Given the description of an element on the screen output the (x, y) to click on. 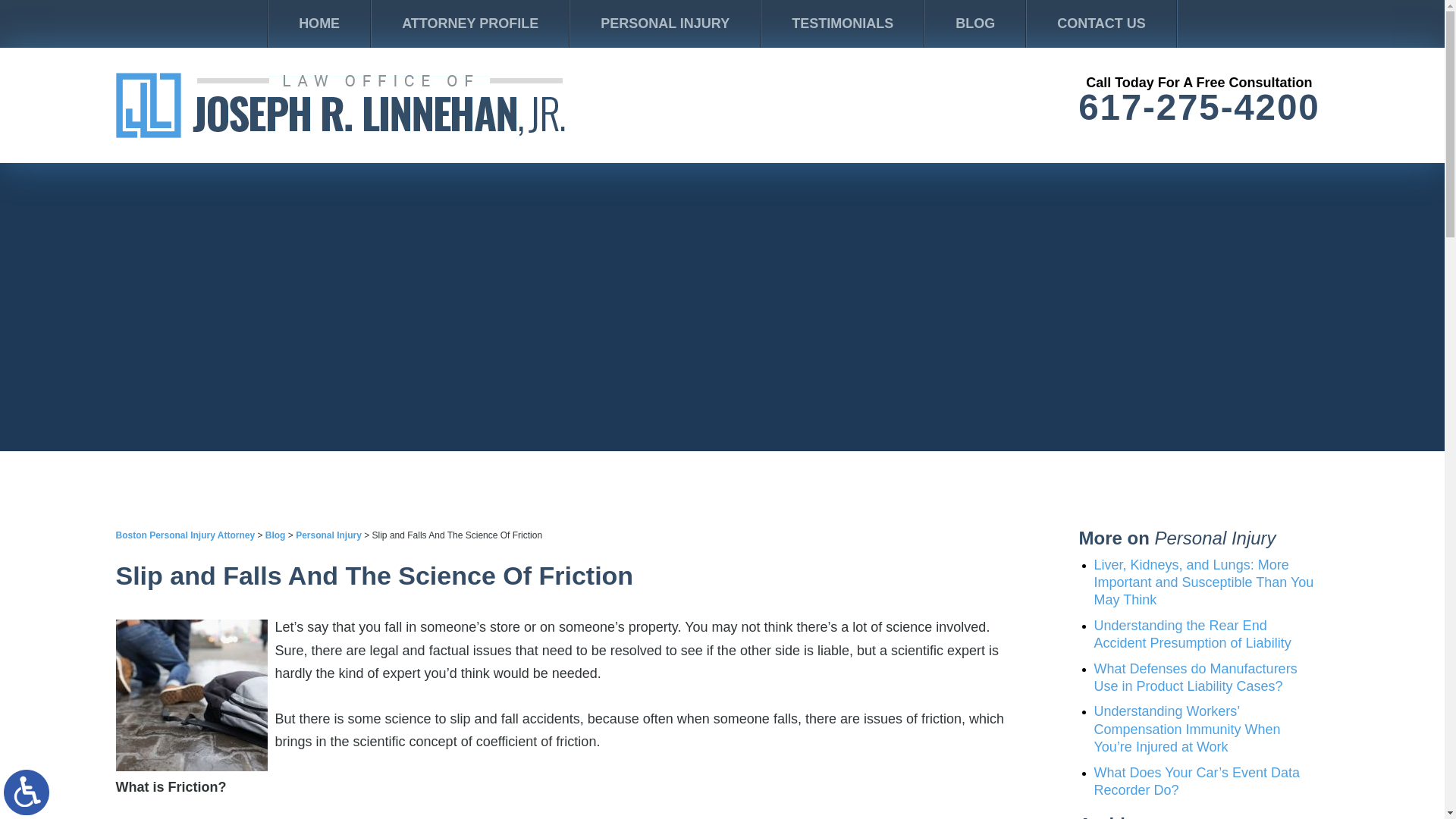
Switch to ADA Accessible Theme (26, 791)
PERSONAL INJURY (665, 23)
SlipSidewalk (190, 695)
ATTORNEY PROFILE (470, 23)
HOME (318, 23)
